Given the description of an element on the screen output the (x, y) to click on. 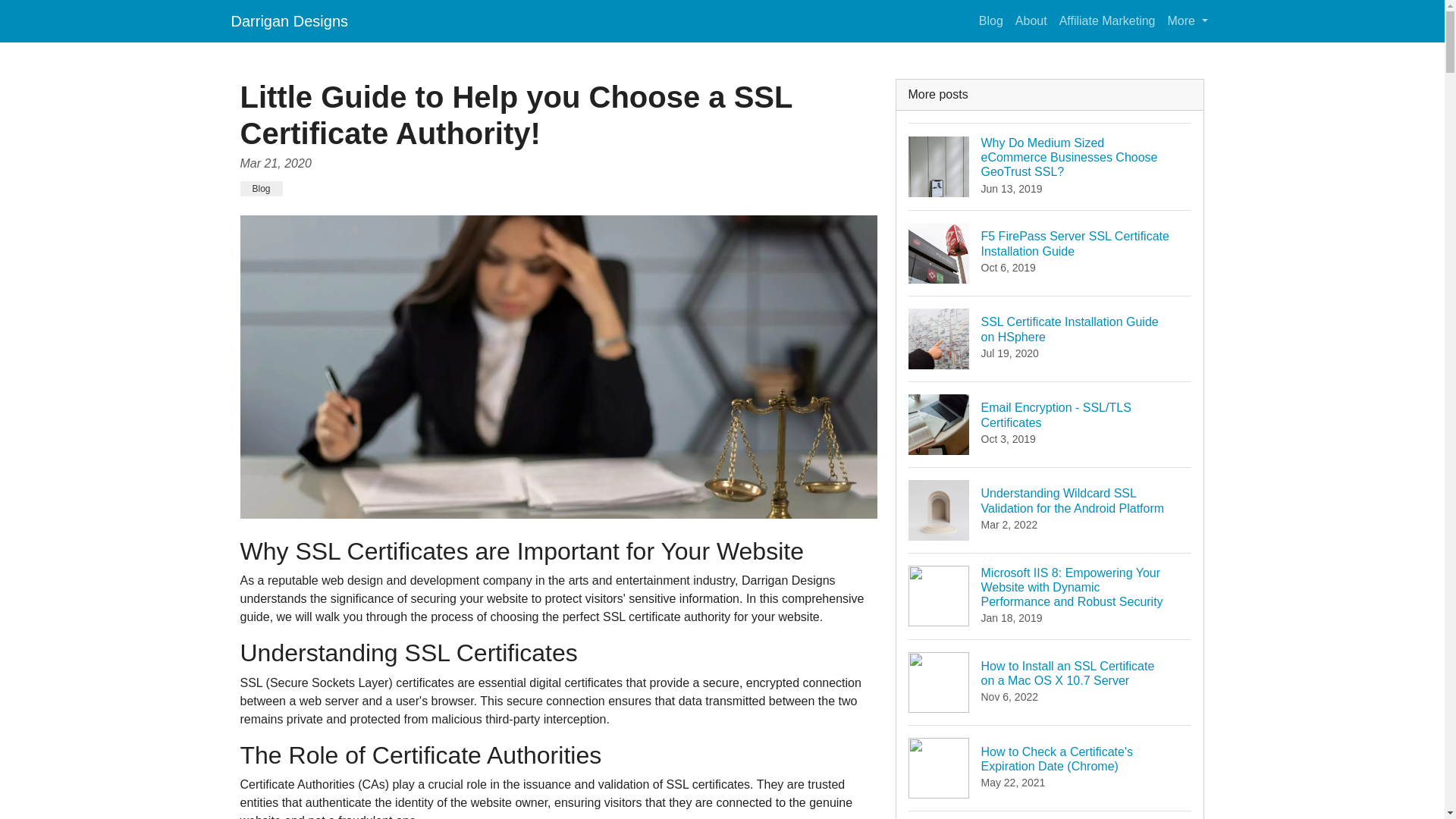
Affiliate Marketing (1106, 20)
More (1187, 20)
About (1030, 20)
Blog (261, 188)
Blog (990, 20)
Darrigan Designs (1050, 338)
